Given the description of an element on the screen output the (x, y) to click on. 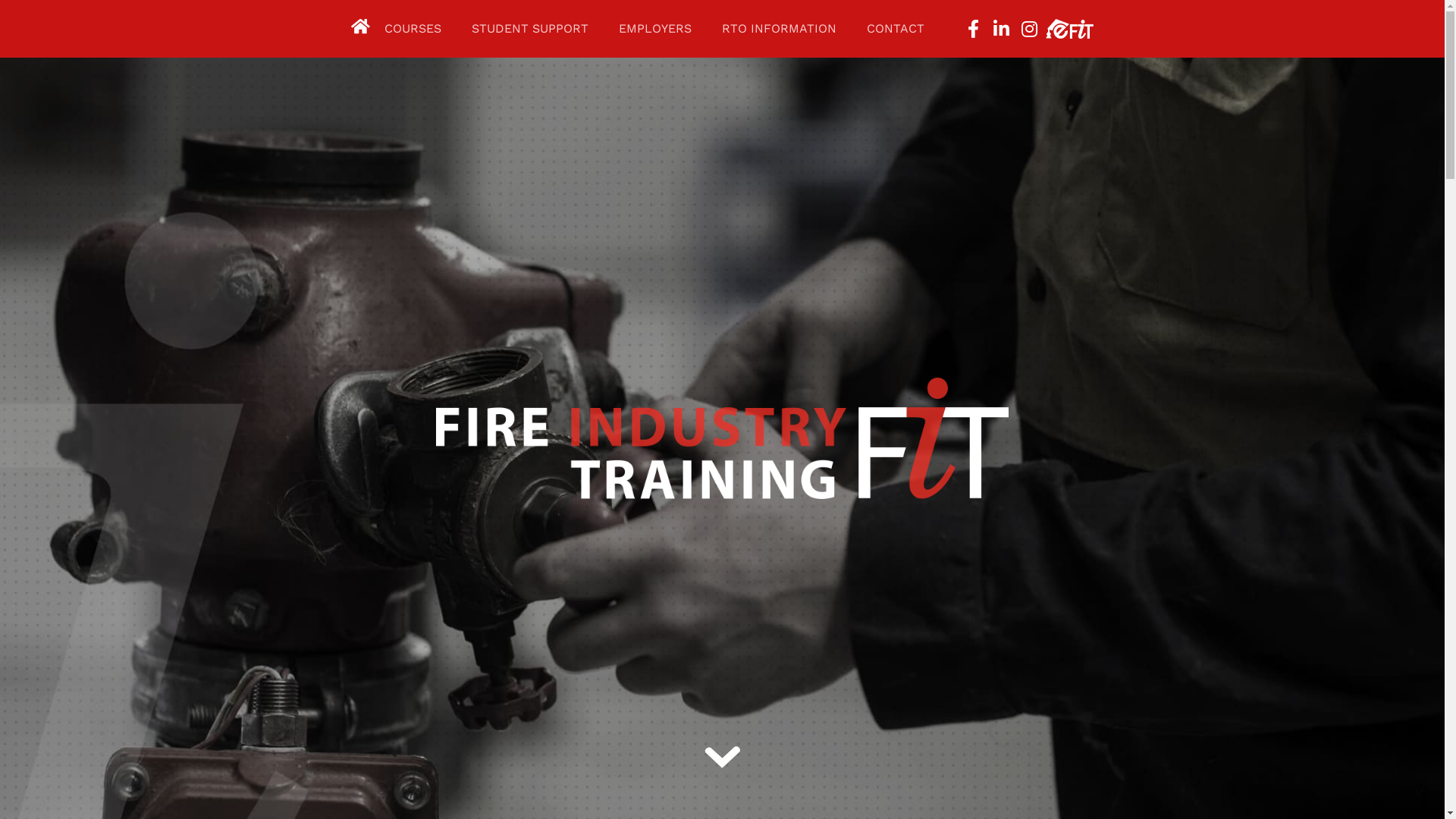
COURSES Element type: text (412, 28)
RTO INFORMATION Element type: text (778, 28)
CONTACT Element type: text (895, 28)
STUDENT SUPPORT Element type: text (529, 28)
EMPLOYERS Element type: text (654, 28)
